Given the description of an element on the screen output the (x, y) to click on. 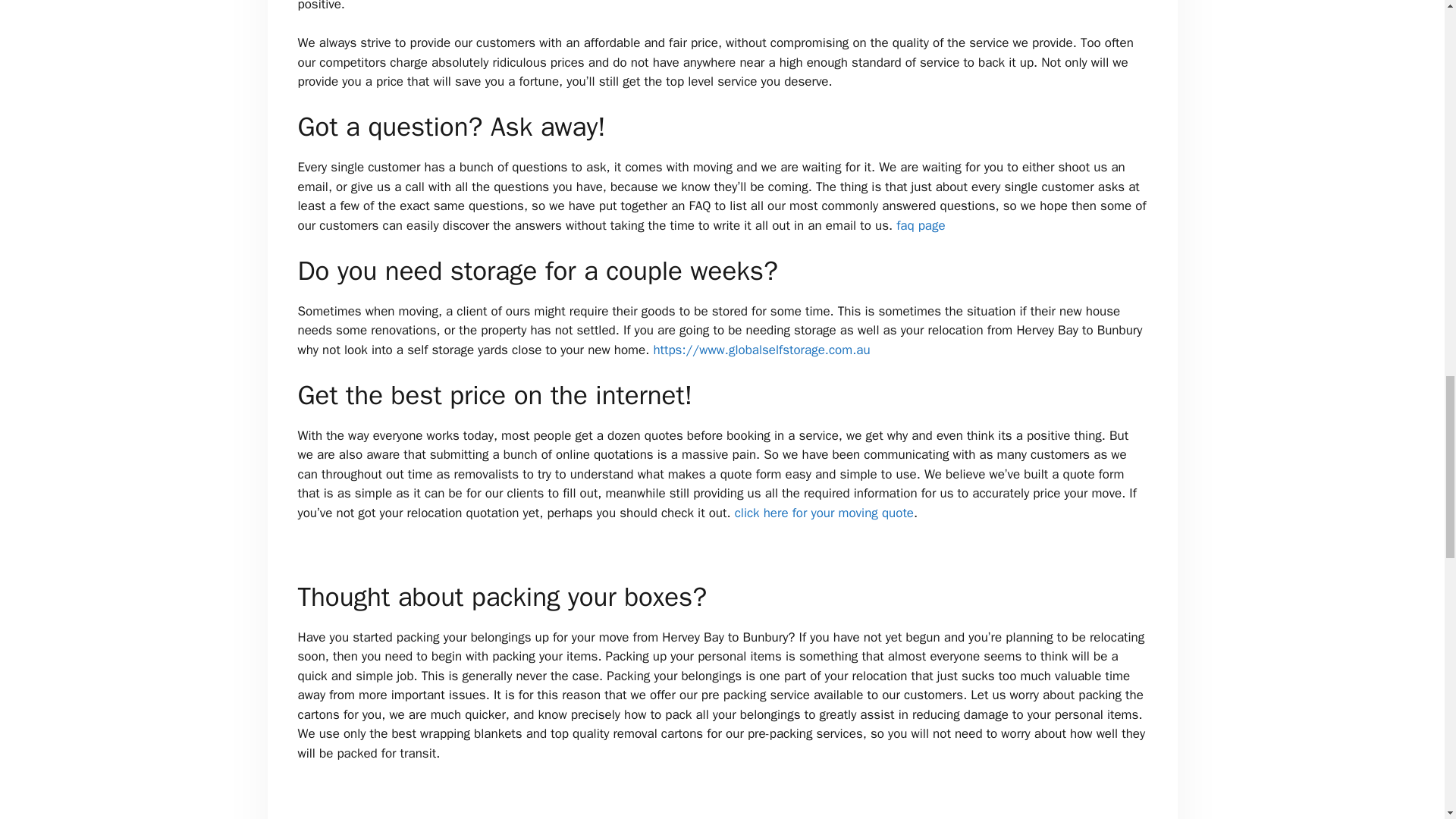
click here for your moving quote (824, 512)
faq page (920, 225)
Self Storage (760, 349)
